Given the description of an element on the screen output the (x, y) to click on. 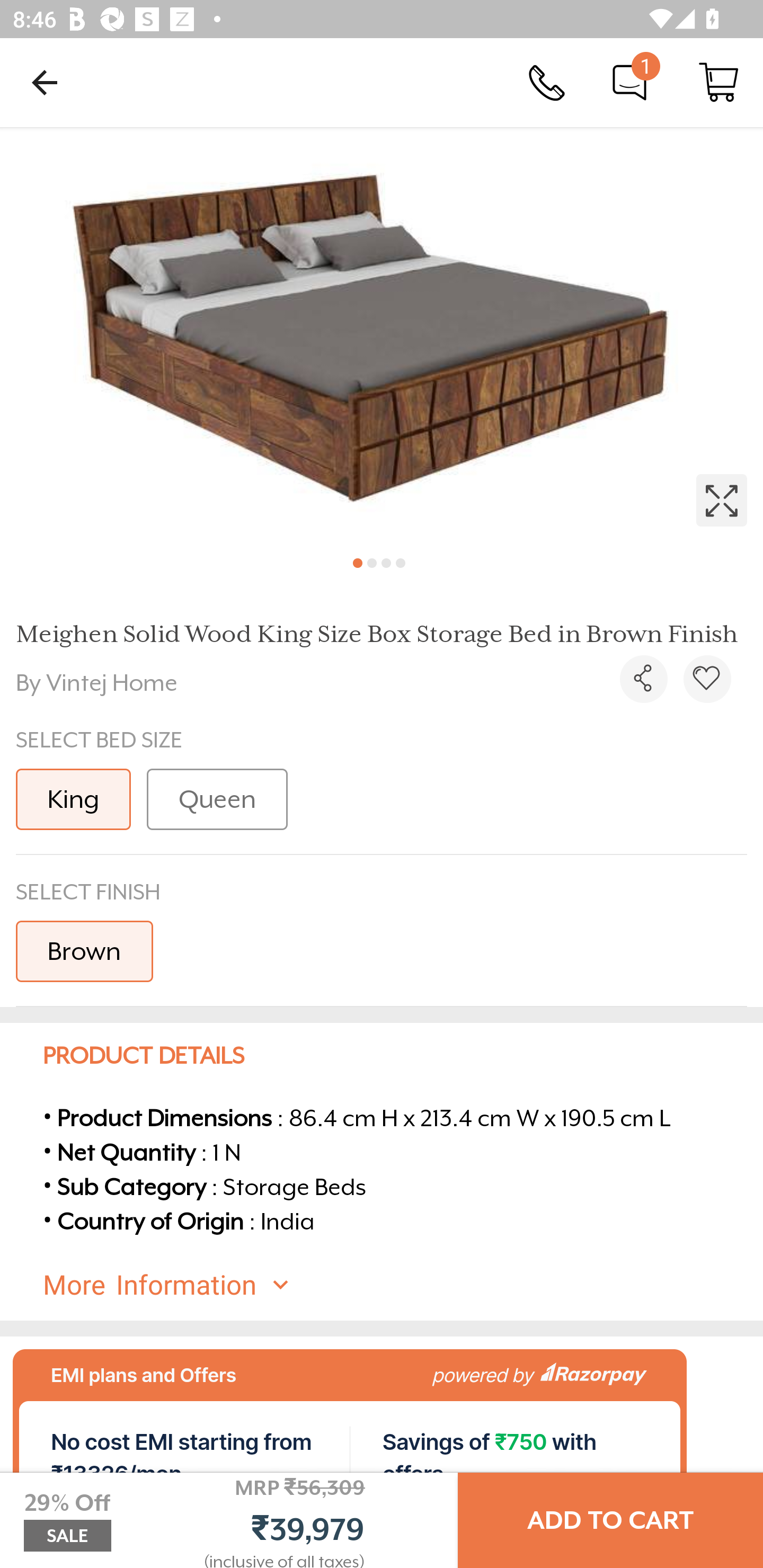
Navigate up (44, 82)
Call Us (546, 81)
Chat (629, 81)
Cart (718, 81)
 (381, 334)
 (381, 334)
 (643, 678)
 (706, 678)
King (73, 798)
Queen (216, 798)
Brown (84, 950)
More Information  (396, 1284)
ADD TO CART (610, 1520)
